Given the description of an element on the screen output the (x, y) to click on. 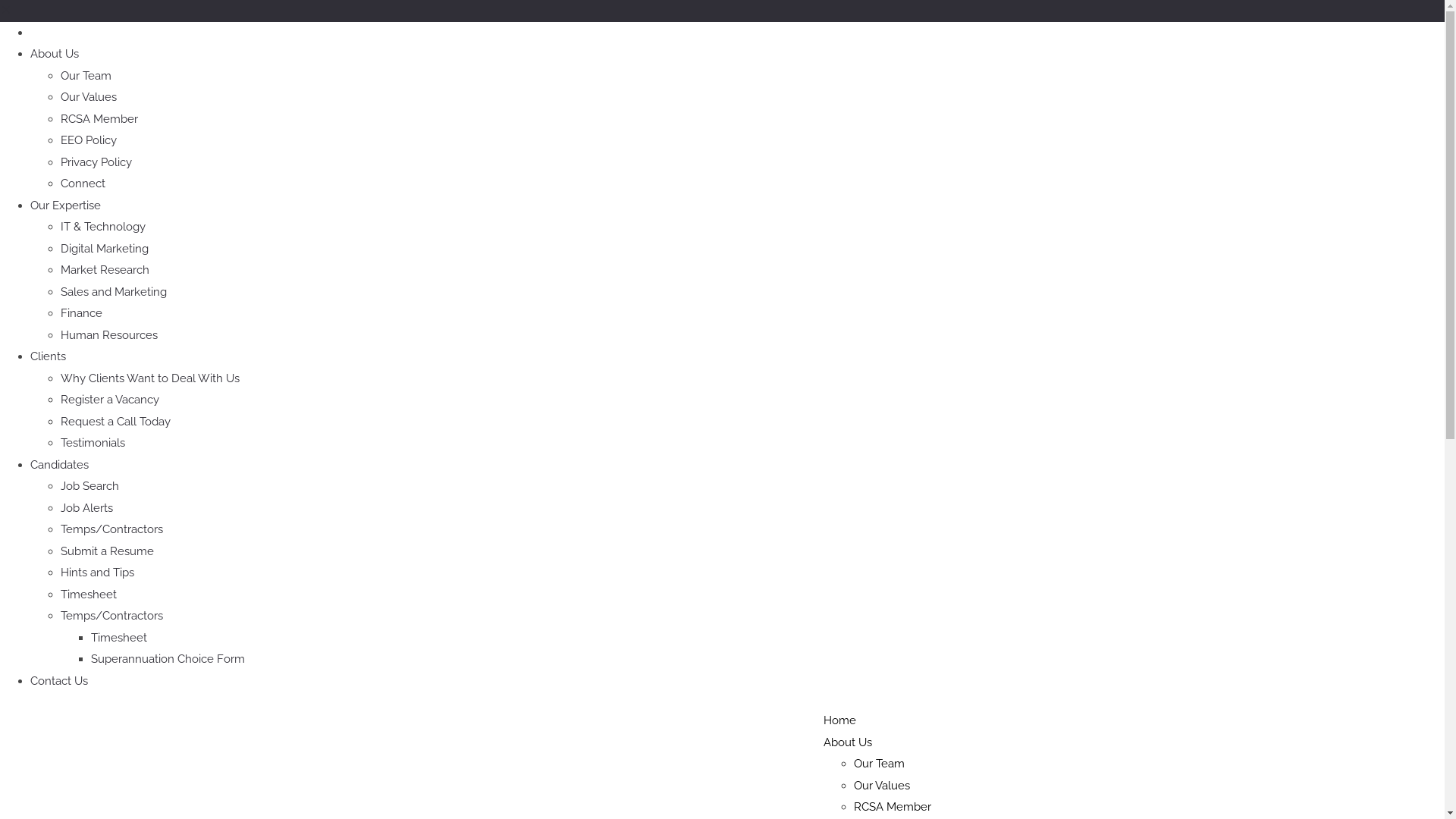
Contact Us Element type: text (58, 680)
Our Team Element type: text (85, 74)
RCSA Member Element type: text (99, 118)
Temps/Contractors Element type: text (111, 615)
Timesheet Element type: text (88, 593)
Sales and Marketing Element type: text (113, 291)
Why Clients Want to Deal With Us Element type: text (149, 378)
Our Team Element type: text (878, 763)
Home Element type: text (839, 720)
Our Values Element type: text (88, 96)
Job Search Element type: text (89, 485)
RCSA Member Element type: text (892, 806)
Register a Vacancy Element type: text (109, 399)
IT & Technology Element type: text (102, 226)
Candidates Element type: text (59, 464)
Human Resources Element type: text (108, 334)
Timesheet Element type: text (119, 637)
Job Alerts Element type: text (86, 507)
Temps/Contractors Element type: text (111, 529)
Our Values Element type: text (881, 784)
Connect Element type: text (82, 183)
About Us Element type: text (847, 742)
Finance Element type: text (81, 313)
Market Research Element type: text (104, 269)
Our Expertise Element type: text (65, 205)
Superannuation Choice Form Element type: text (167, 658)
About Us Element type: text (54, 53)
Request a Call Today Element type: text (115, 420)
Hints and Tips Element type: text (97, 572)
EEO Policy Element type: text (88, 140)
Testimonials Element type: text (92, 442)
Home Element type: text (46, 32)
Digital Marketing Element type: text (104, 247)
Privacy Policy Element type: text (95, 161)
Clients Element type: text (47, 356)
Submit a Resume Element type: text (106, 551)
